Given the description of an element on the screen output the (x, y) to click on. 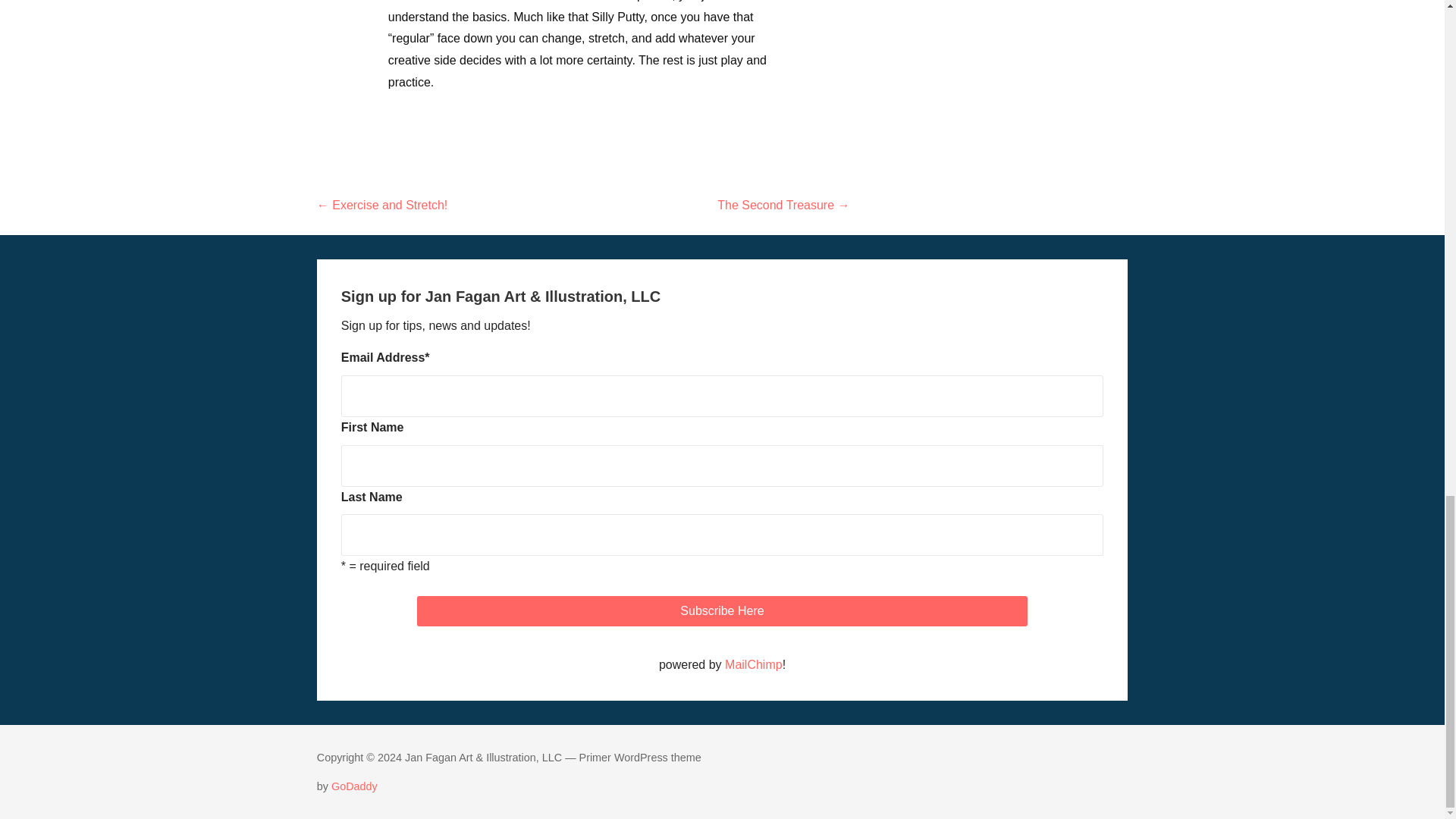
Subscribe Here (721, 611)
GoDaddy (354, 786)
Subscribe Here (721, 611)
MailChimp (754, 664)
